Given the description of an element on the screen output the (x, y) to click on. 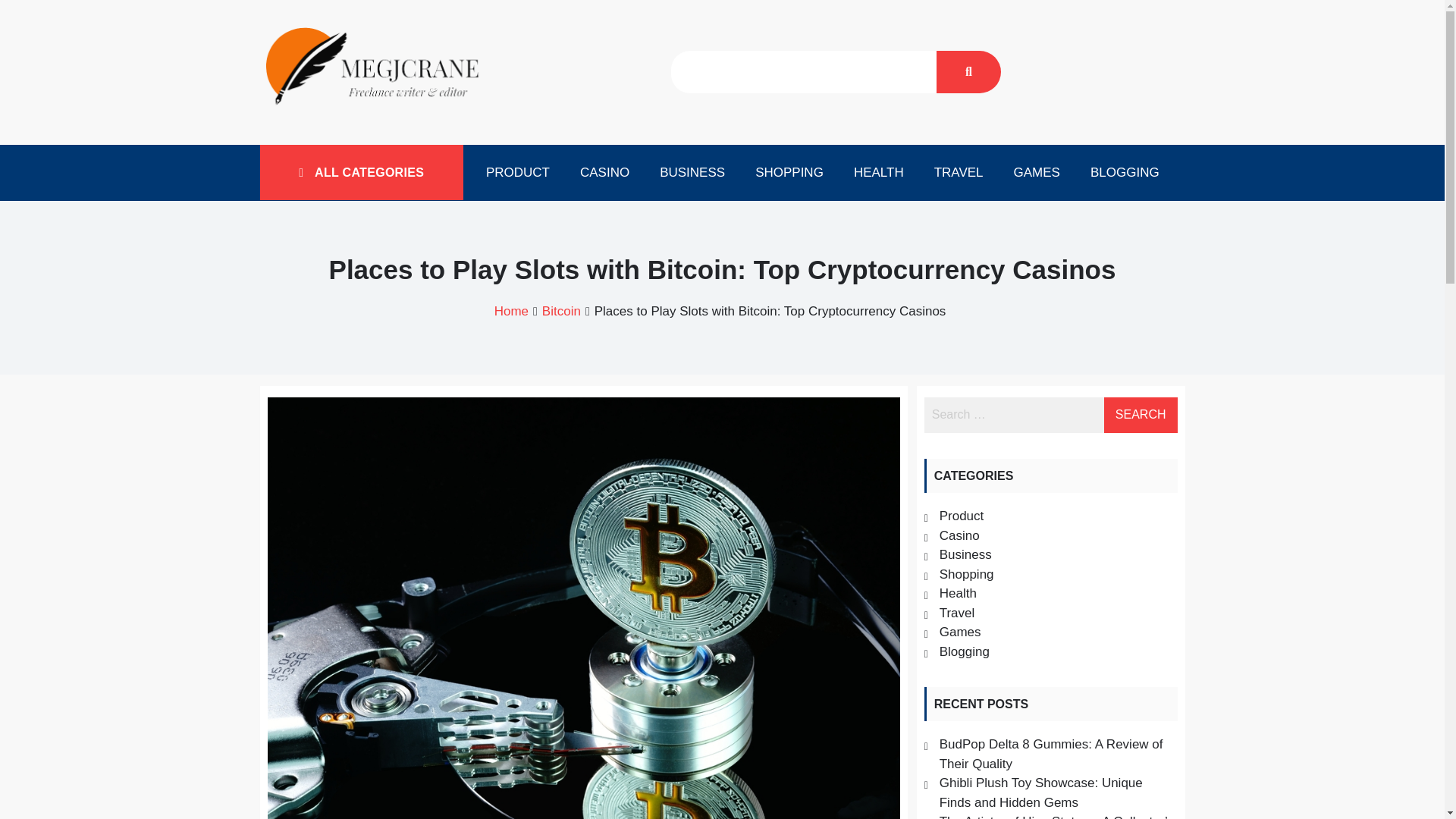
Business (965, 554)
Shopping (966, 574)
BUSINESS (692, 172)
HEALTH (878, 172)
Search (1140, 415)
CASINO (604, 172)
GAMES (1036, 172)
TRAVEL (958, 172)
Megjcrane (329, 125)
SHOPPING (788, 172)
Blogging (964, 651)
Bitcoin (560, 310)
Product (961, 515)
PRODUCT (517, 172)
Search (1140, 415)
